Given the description of an element on the screen output the (x, y) to click on. 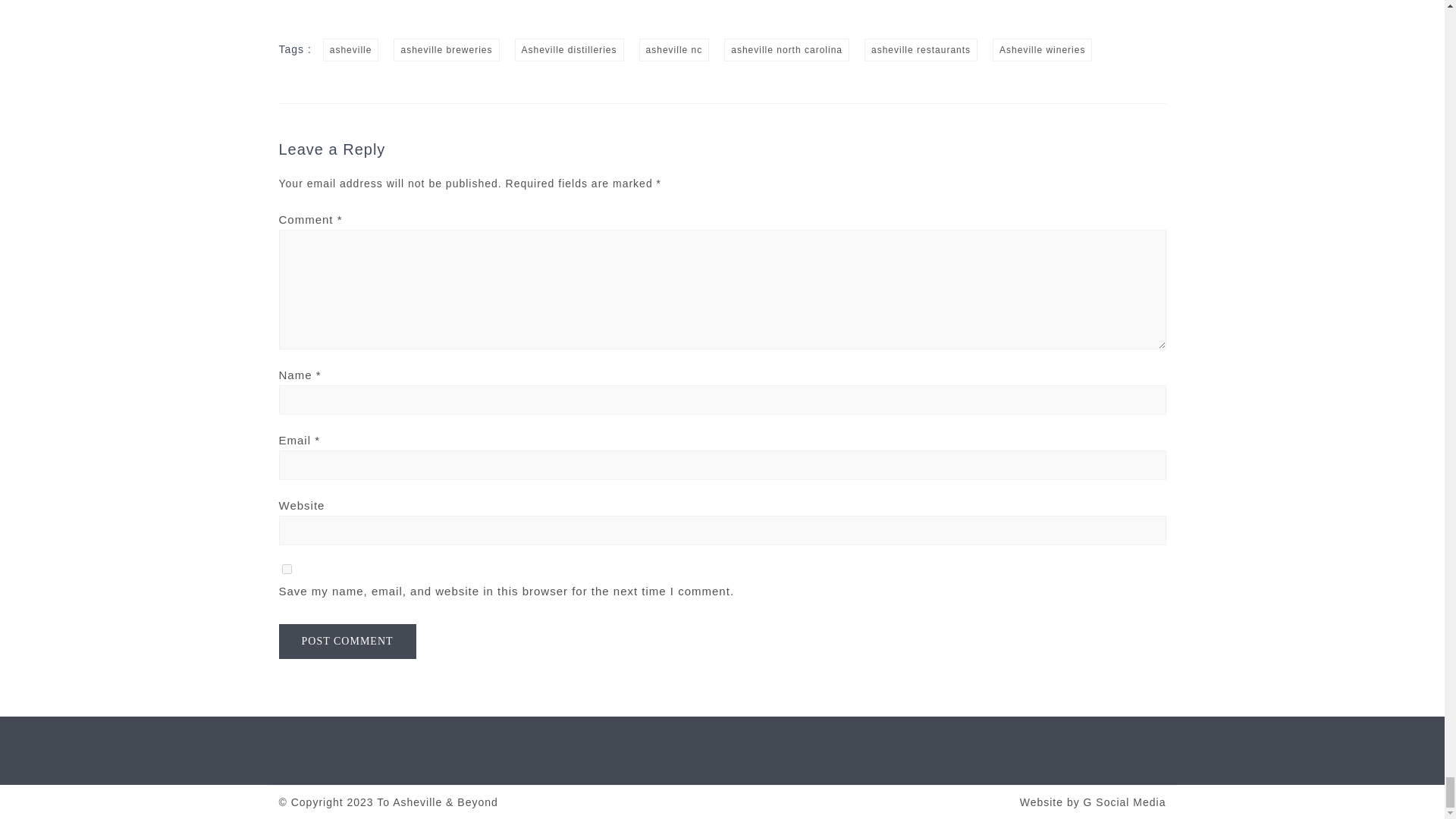
yes (287, 569)
Post Comment (347, 641)
